Given the description of an element on the screen output the (x, y) to click on. 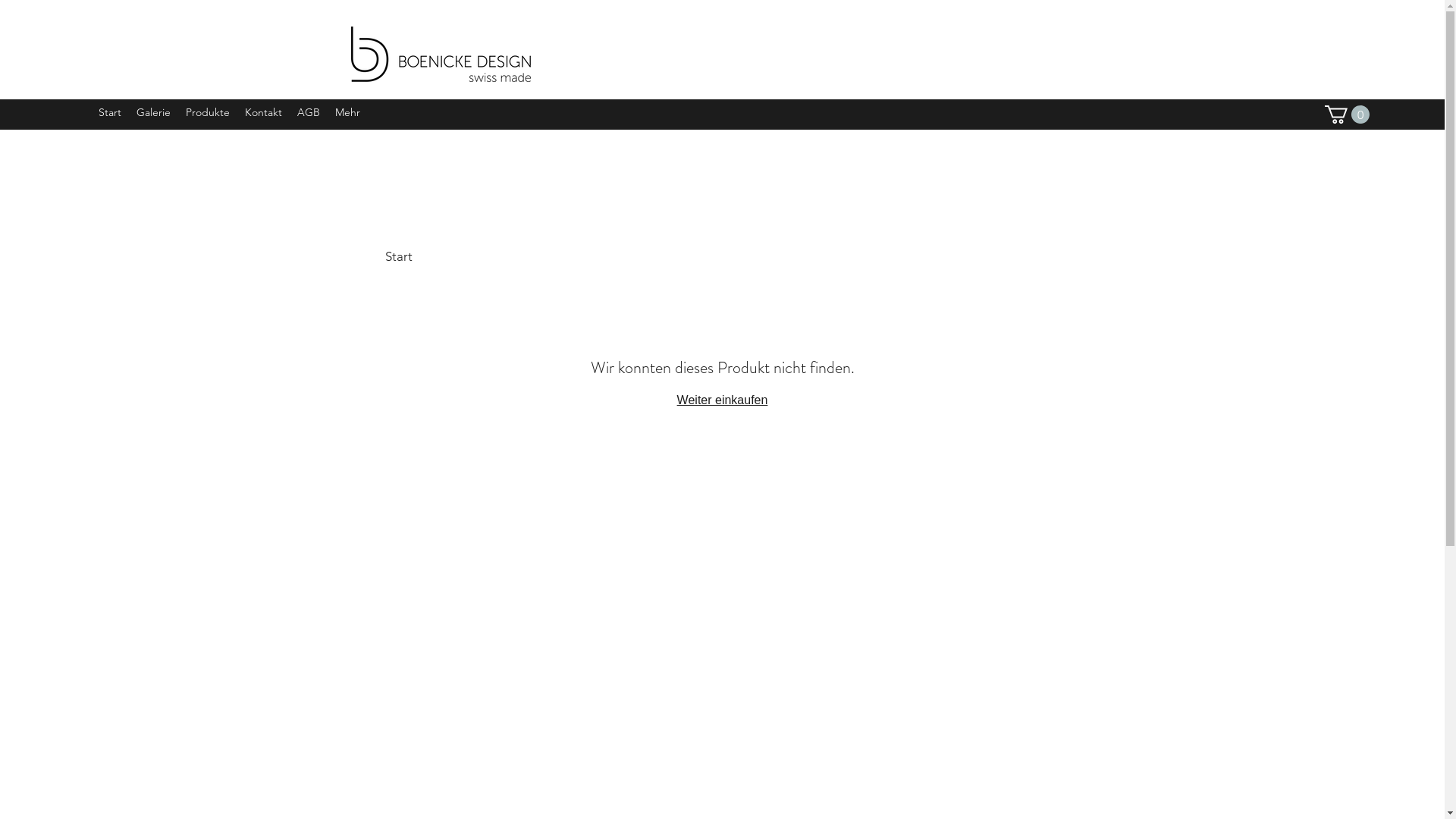
AGB Element type: text (308, 114)
Produkte Element type: text (207, 114)
Start Element type: text (109, 114)
Weiter einkaufen Element type: text (722, 399)
Kontakt Element type: text (263, 114)
0 Element type: text (1346, 114)
Galerie Element type: text (153, 114)
Start Element type: text (398, 255)
